Given the description of an element on the screen output the (x, y) to click on. 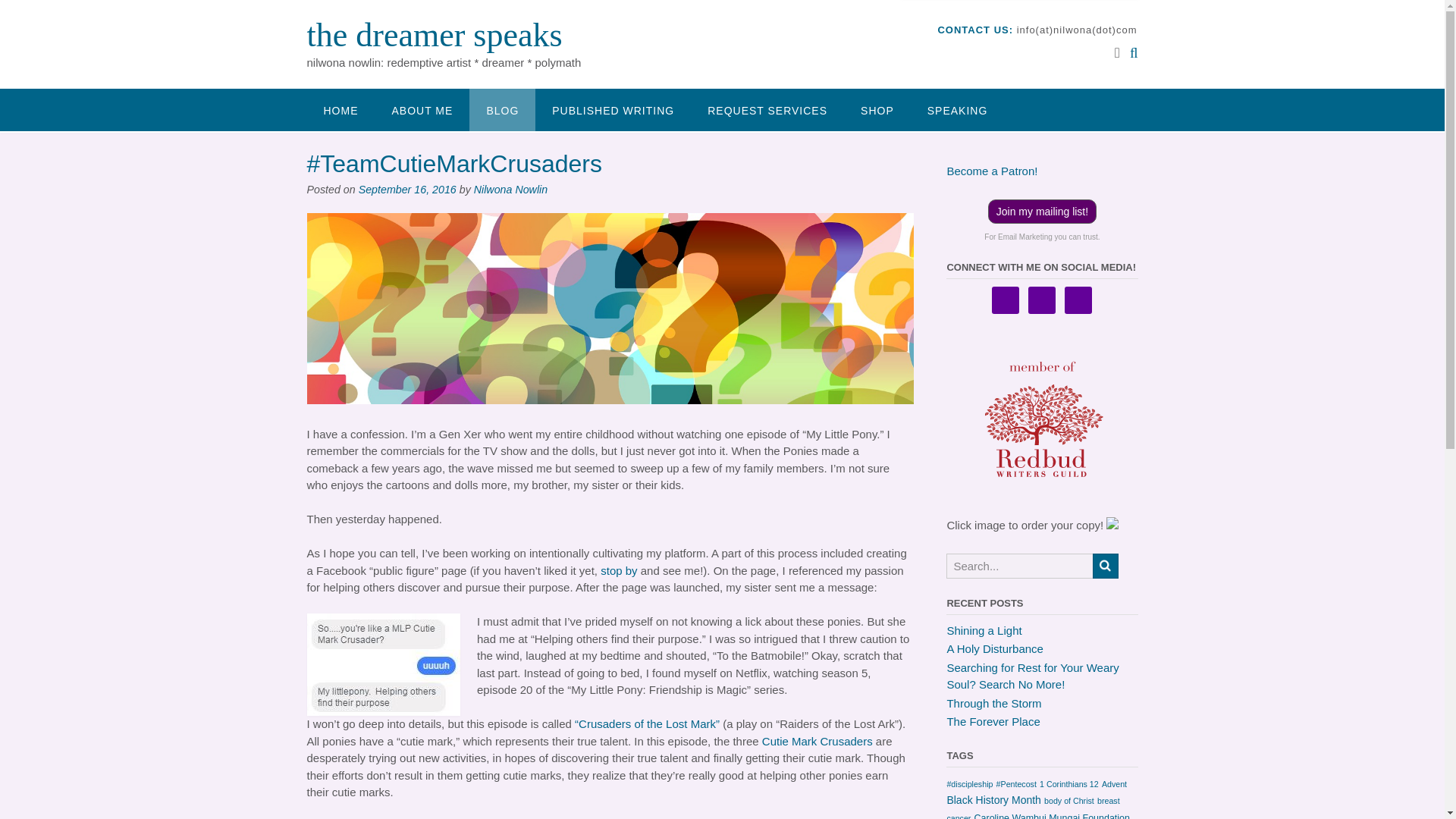
Searching for Rest for Your Weary Soul? Search No More! (1032, 675)
Through the Storm (993, 702)
Shining a Light (984, 629)
SPEAKING (957, 109)
The Forever Place (992, 721)
Nilwona Nowlin (510, 189)
REQUEST SERVICES (767, 109)
Become a Patron! (991, 170)
Search for: (1019, 565)
